Given the description of an element on the screen output the (x, y) to click on. 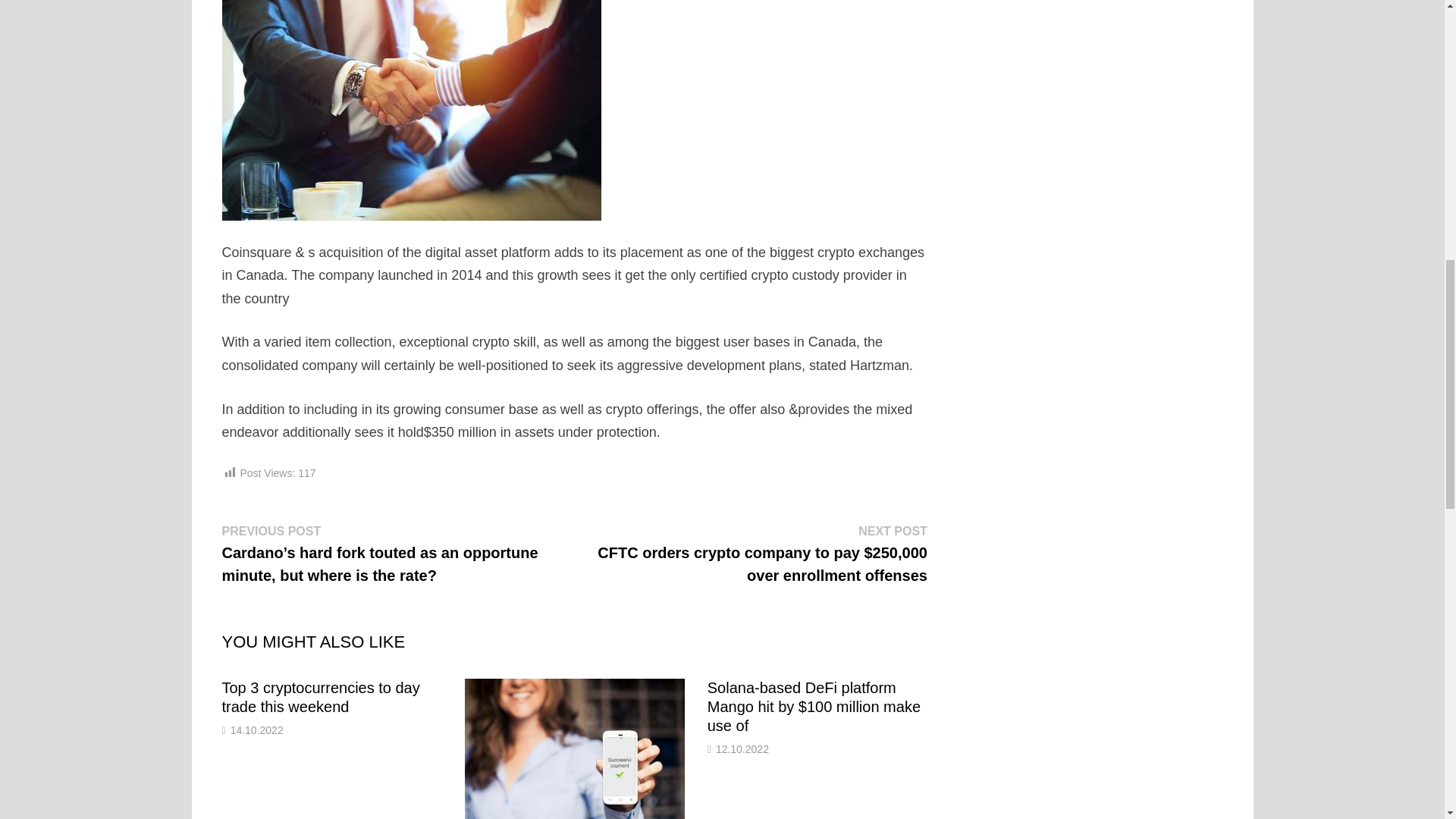
Top 3 cryptocurrencies to day trade this weekend (320, 696)
